Given the description of an element on the screen output the (x, y) to click on. 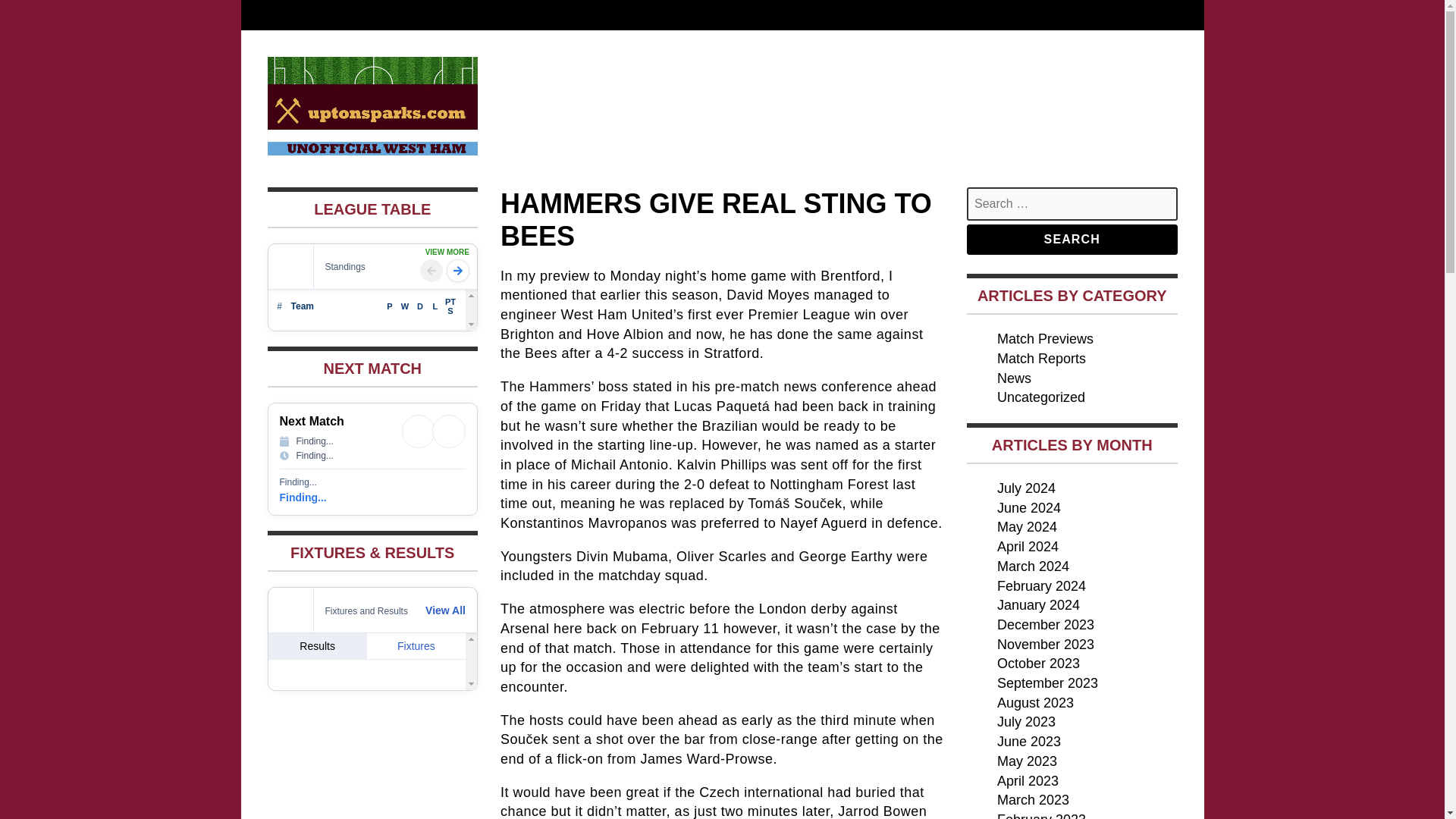
Results (316, 646)
Search (1071, 239)
December 2023 (1045, 624)
February 2023 (1041, 815)
Match Previews (1045, 338)
April 2024 (1027, 546)
Search (1071, 239)
View All (445, 610)
July 2024 (1026, 488)
May 2023 (1027, 761)
UptonSparks (353, 182)
August 2023 (1035, 702)
News (1013, 378)
Match Reports (1041, 358)
November 2023 (1045, 644)
